Given the description of an element on the screen output the (x, y) to click on. 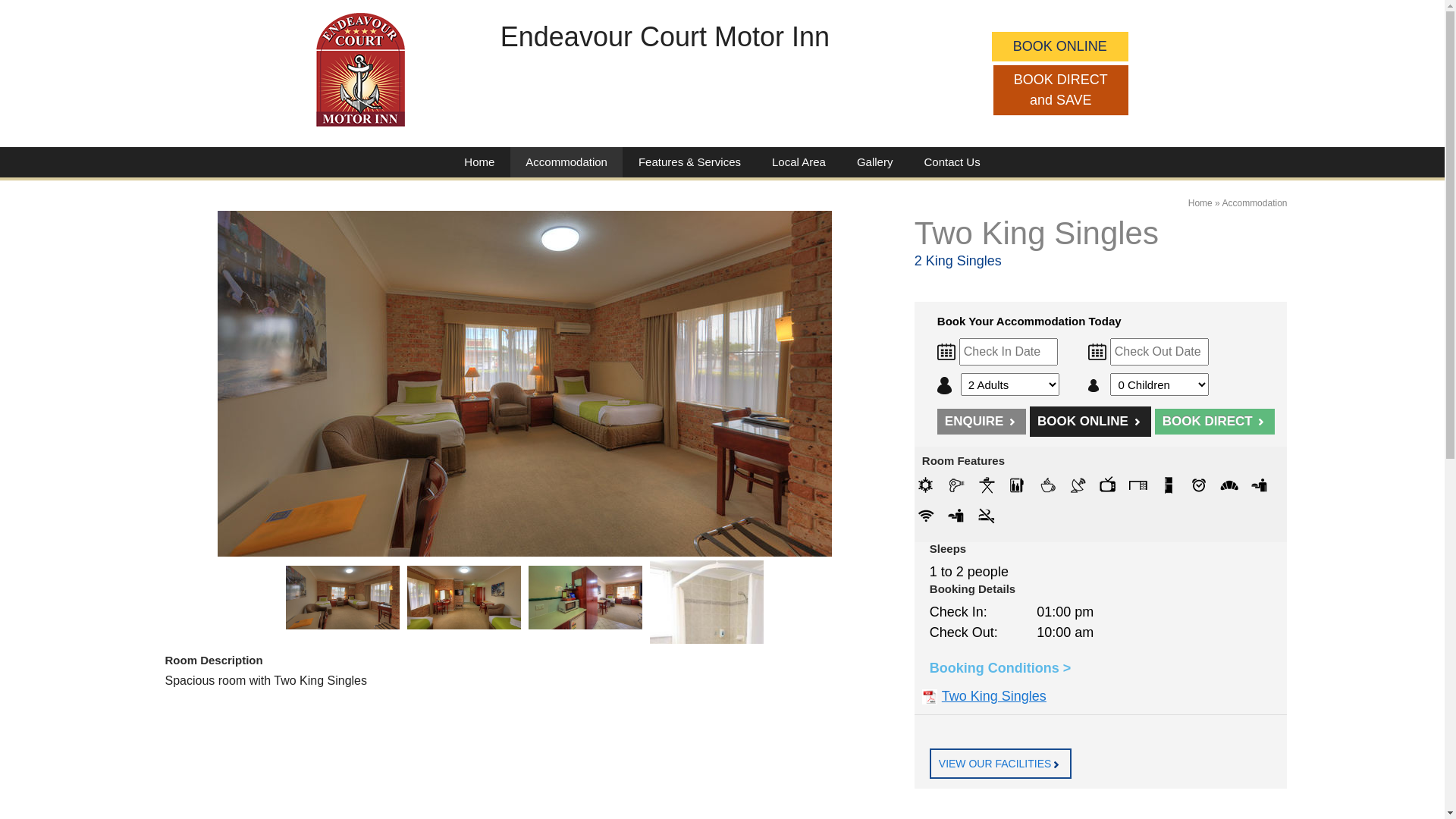
Children Element type: hover (1095, 385)
Fridge Element type: hover (1168, 484)
Go Element type: hover (1012, 421)
Features & Services Element type: text (689, 162)
Accommodation Element type: text (1253, 202)
Click to select your Check In Date Element type: hover (1008, 351)
Adults Element type: hover (947, 385)
Two King Singles Element type: hover (706, 645)
Room Service Element type: hover (955, 515)
Breakfast Available Element type: hover (1228, 484)
Home Element type: text (1200, 202)
Check Out Date Element type: hover (1087, 351)
NO Smoking Element type: hover (986, 515)
Writing Desk Element type: hover (1137, 484)
ENQUIRE  Element type: text (981, 421)
Two King Singles Element type: hover (463, 597)
Click to select your Check out Date Element type: hover (1159, 351)
BOOK DIRECT  Element type: text (1214, 421)
Home Element type: text (478, 162)
Alarm Clock Element type: hover (1198, 484)
Endeavour Court Motel Element type: hover (360, 69)
Local Area Element type: text (798, 162)
Booking Conditions > Element type: text (1000, 667)
BOOK DIRECT
and SAVE Element type: text (1060, 90)
Two King Singles Element type: hover (342, 597)
Check In Date Element type: hover (948, 351)
Ironing Facilities Element type: hover (986, 484)
WiFi Available Element type: hover (925, 515)
Accommodation Element type: text (566, 163)
Television Element type: hover (1107, 484)
Pay TV/Foxtel Element type: hover (1077, 484)
BOOK ONLINE  Element type: text (1090, 421)
Go Element type: hover (1261, 421)
Two King Singles Element type: hover (585, 597)
Contact Us Element type: text (951, 162)
VIEW OUR FACILITIES Element type: text (1000, 763)
Hair Dryer Element type: hover (955, 484)
Mini Bar Element type: hover (1016, 484)
Room Service Element type: hover (1259, 484)
Gallery Element type: text (874, 162)
Two King Singles Element type: hover (524, 383)
Two King Singles Element type: text (984, 695)
BOOK ONLINE Element type: text (1059, 46)
Go Element type: hover (1056, 764)
Air Conditioning Element type: hover (925, 484)
Tea/Coffee Facilities Element type: hover (1046, 484)
